Given the description of an element on the screen output the (x, y) to click on. 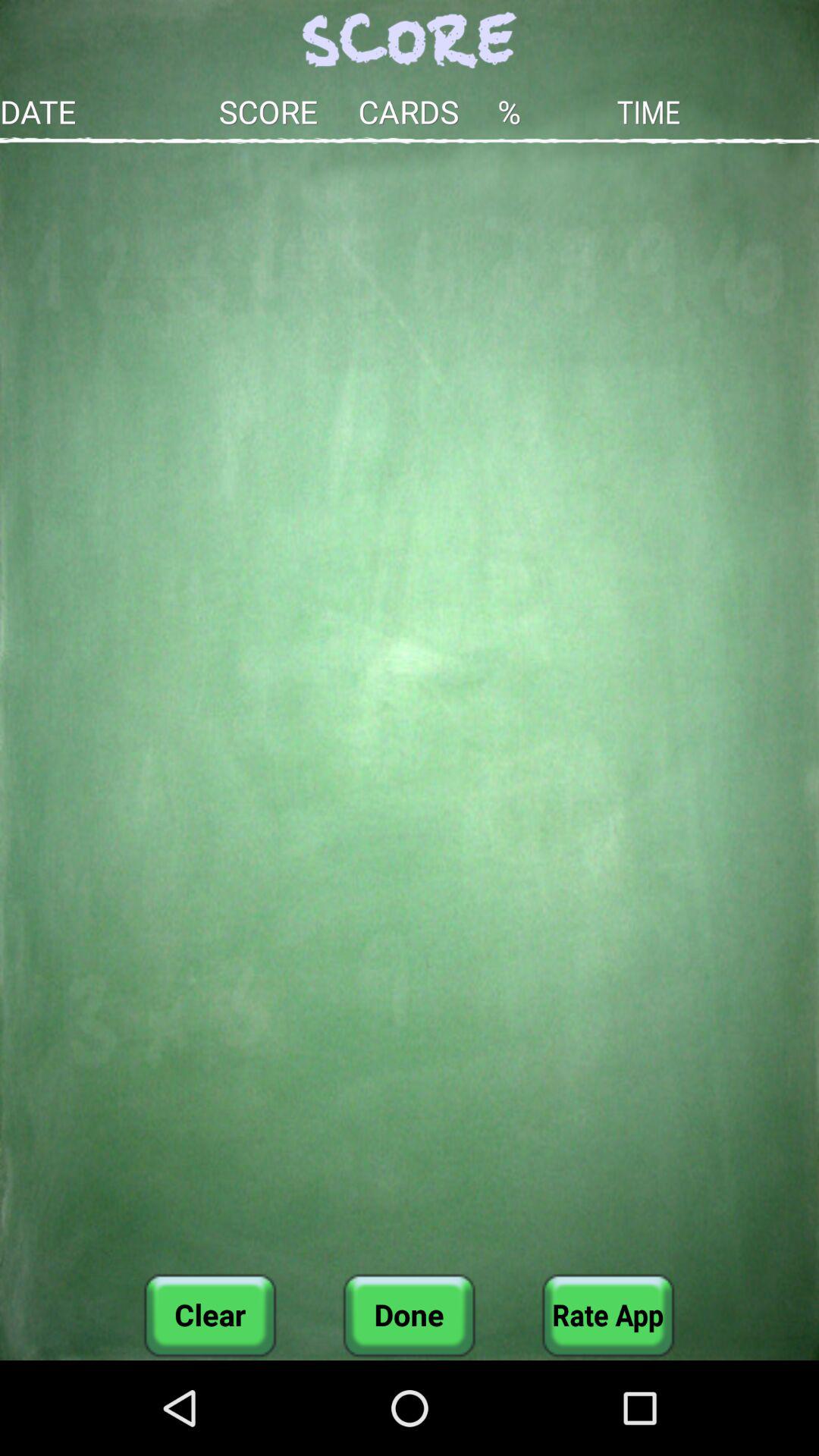
select the done at the bottom (408, 1315)
